Given the description of an element on the screen output the (x, y) to click on. 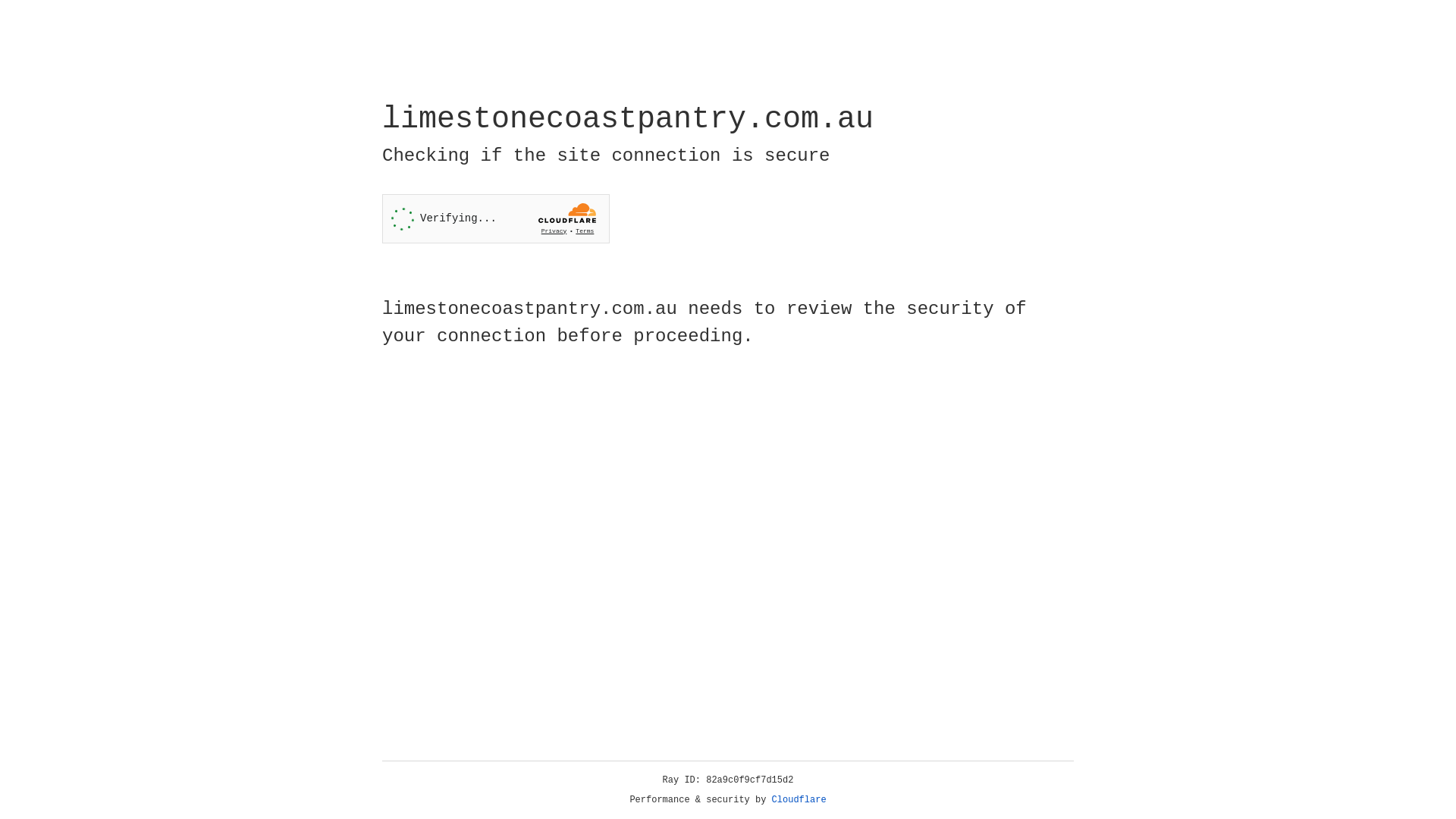
Cloudflare Element type: text (798, 799)
Widget containing a Cloudflare security challenge Element type: hover (495, 218)
